Given the description of an element on the screen output the (x, y) to click on. 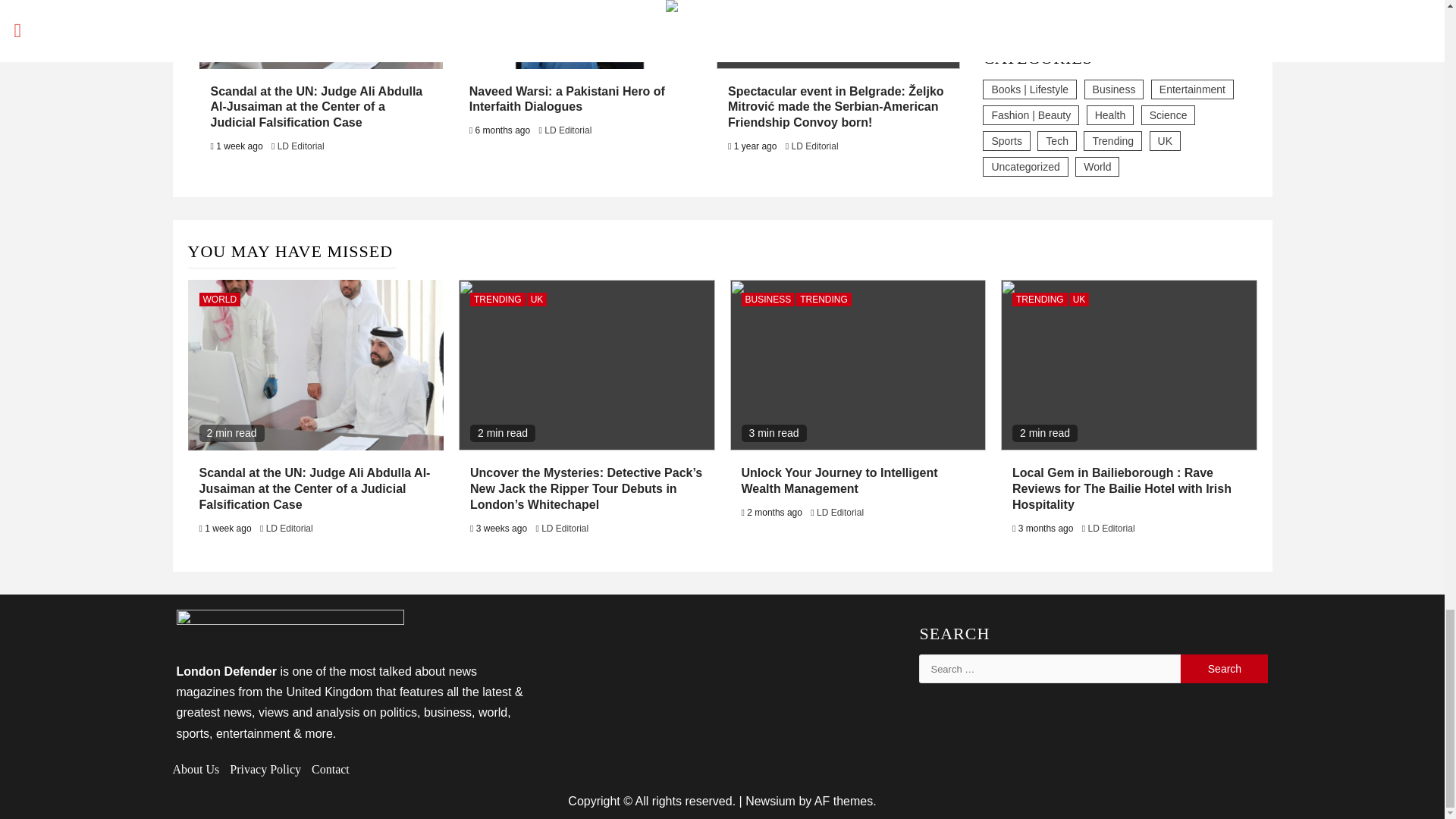
Naveed Warsi: a Pakistani Hero of Interfaith Dialogues (566, 99)
LD Editorial (567, 130)
Search (1224, 668)
Search (1224, 668)
LD Editorial (301, 145)
